Given the description of an element on the screen output the (x, y) to click on. 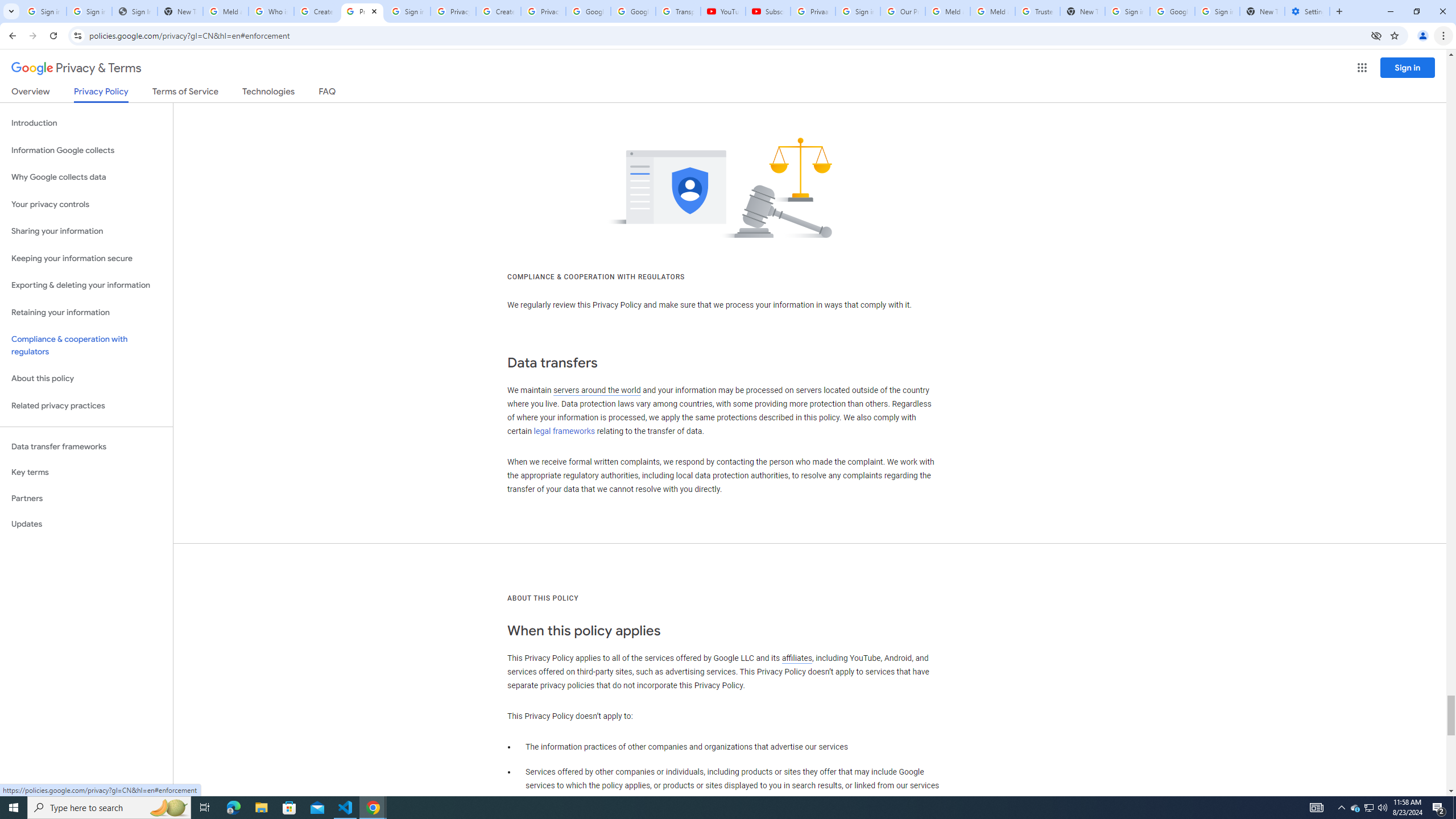
Your privacy controls (86, 204)
Compliance & cooperation with regulators (86, 345)
About this policy (86, 379)
Sign in - Google Accounts (1216, 11)
Sign in - Google Accounts (1126, 11)
Sign in - Google Accounts (857, 11)
Create your Google Account (316, 11)
Who is my administrator? - Google Account Help (270, 11)
legal frameworks (563, 430)
